Given the description of an element on the screen output the (x, y) to click on. 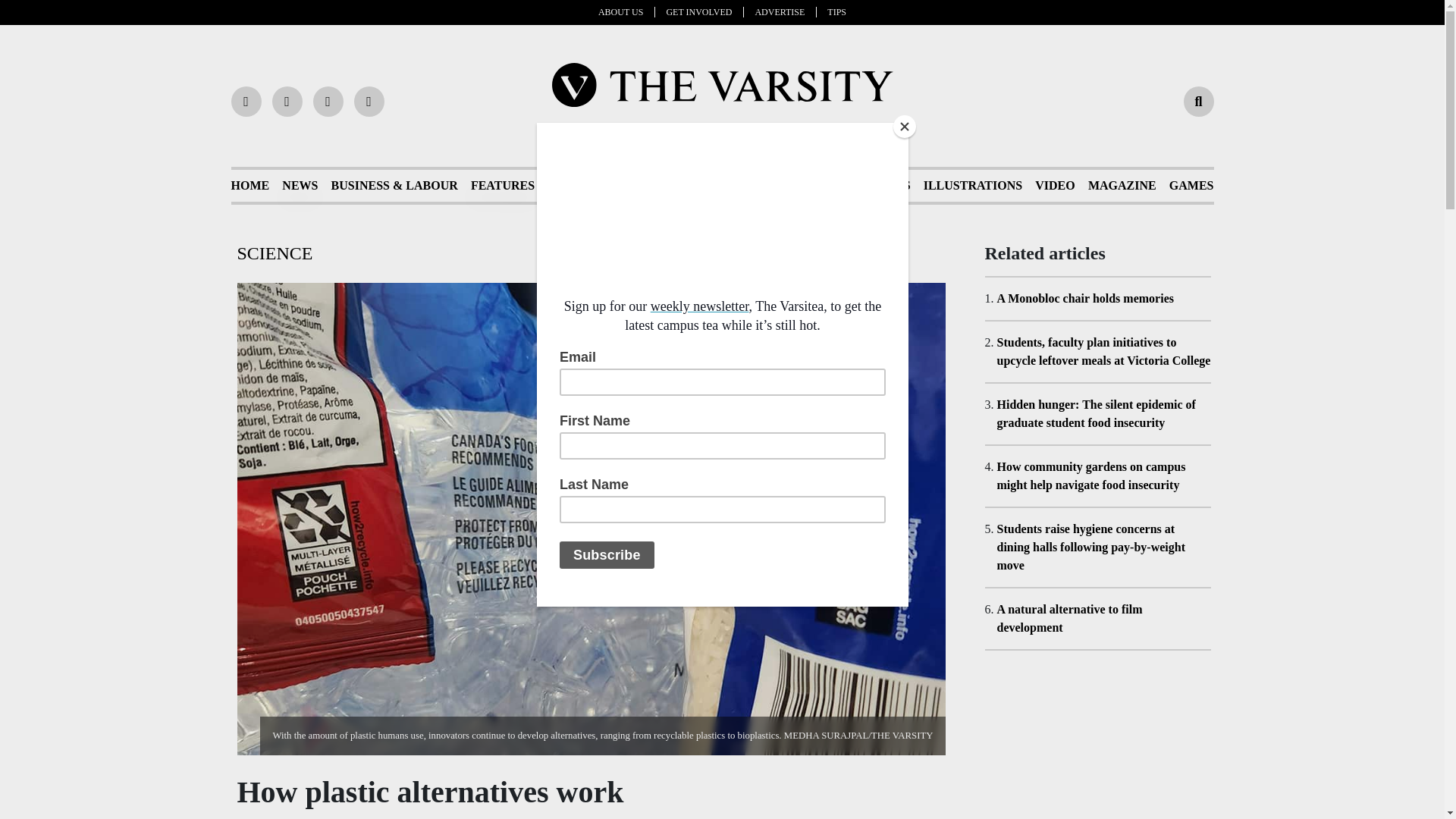
GET INVOLVED (704, 11)
A Monobloc chair holds memories (1084, 297)
ADVERTISE (785, 11)
TIPS (836, 11)
ABOUT US (626, 11)
